Given the description of an element on the screen output the (x, y) to click on. 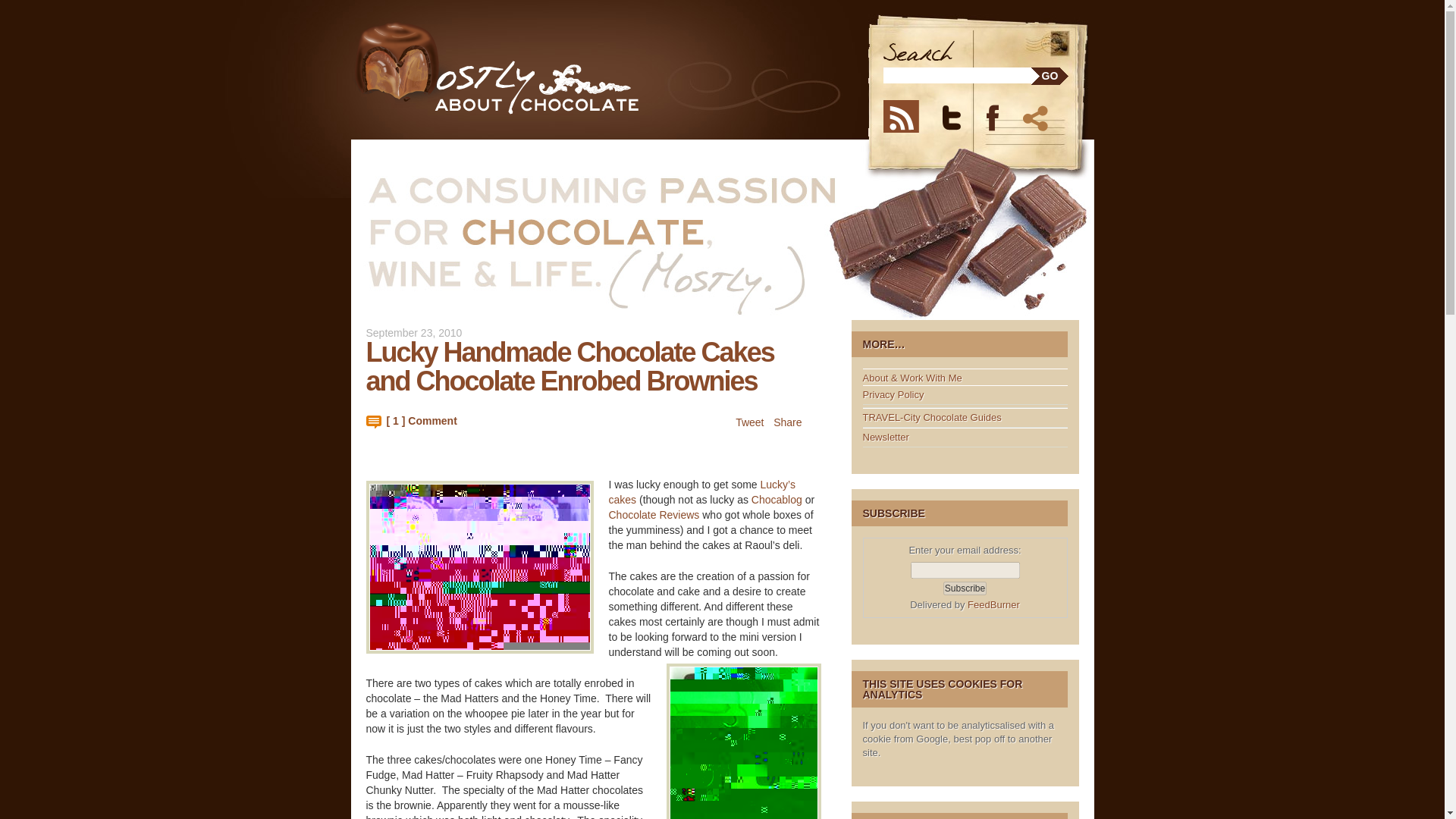
Subscribe (965, 588)
Tweet (748, 422)
Privacy Policy (893, 394)
lucky cakes (478, 566)
Share (787, 422)
FaceBook (1000, 115)
Share (1038, 115)
GO (1049, 76)
TRAVEL-City Chocolate Guides (932, 417)
Chocolate Reviews (653, 514)
RSS (909, 115)
luckys chocolate cakes (743, 741)
Chocablog (776, 499)
Mostly About Chocolate Blog (525, 67)
Mostly About Chocolate Blog (525, 67)
